Given the description of an element on the screen output the (x, y) to click on. 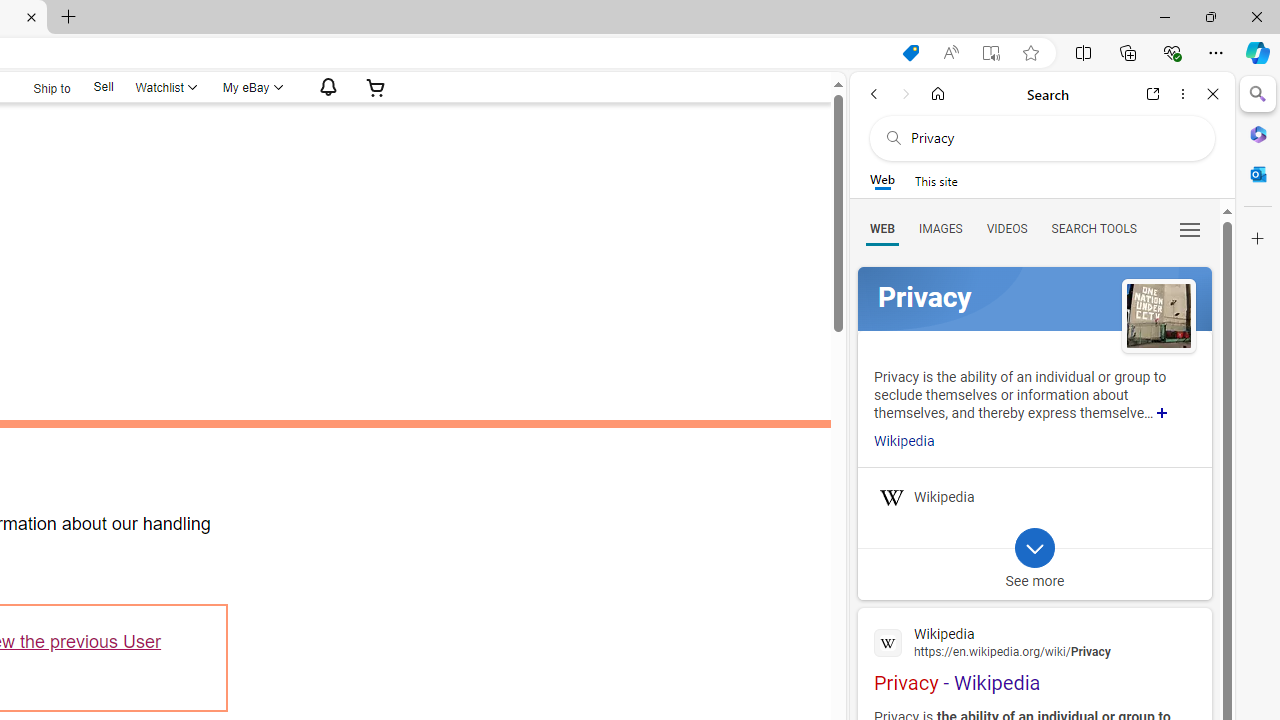
AutomationID: gh-eb-Alerts (325, 87)
My eBay (251, 87)
SEARCH TOOLS (1093, 228)
Show more (1162, 412)
Expand Cart (376, 87)
Your shopping cart (376, 87)
My eBayExpand My eBay (251, 87)
Class: spl_logobg (1034, 299)
See more images of Privacy (1158, 317)
